Given the description of an element on the screen output the (x, y) to click on. 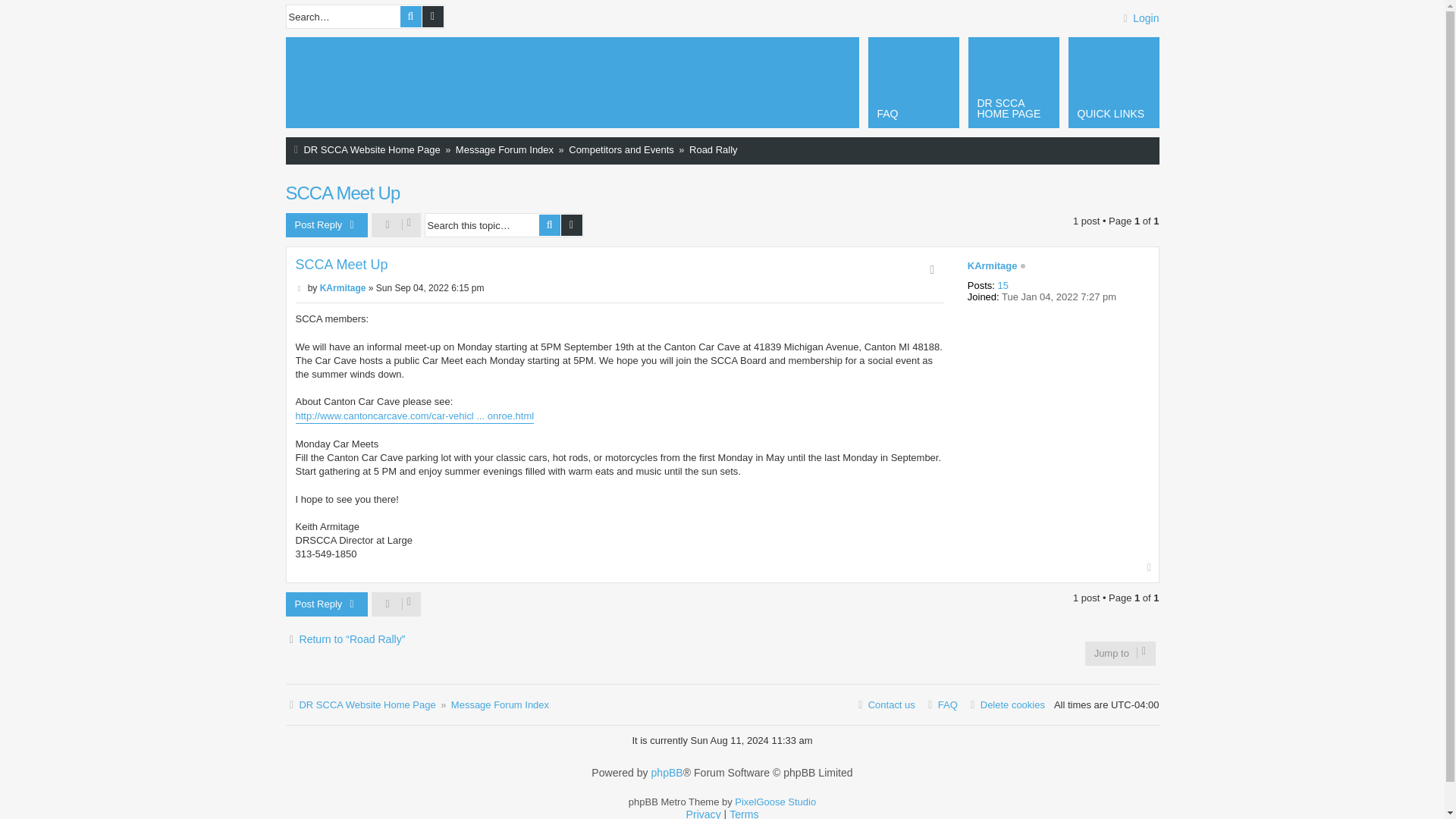
Advanced search (432, 16)
Search (411, 16)
Login (1131, 18)
DR SCCA Website Home Page (364, 150)
Post (300, 287)
Search (549, 224)
Advanced search (432, 16)
DR SCCA Website Home Page (342, 83)
Advanced search (571, 224)
DR SCCA HOME PAGE (1013, 81)
